Given the description of an element on the screen output the (x, y) to click on. 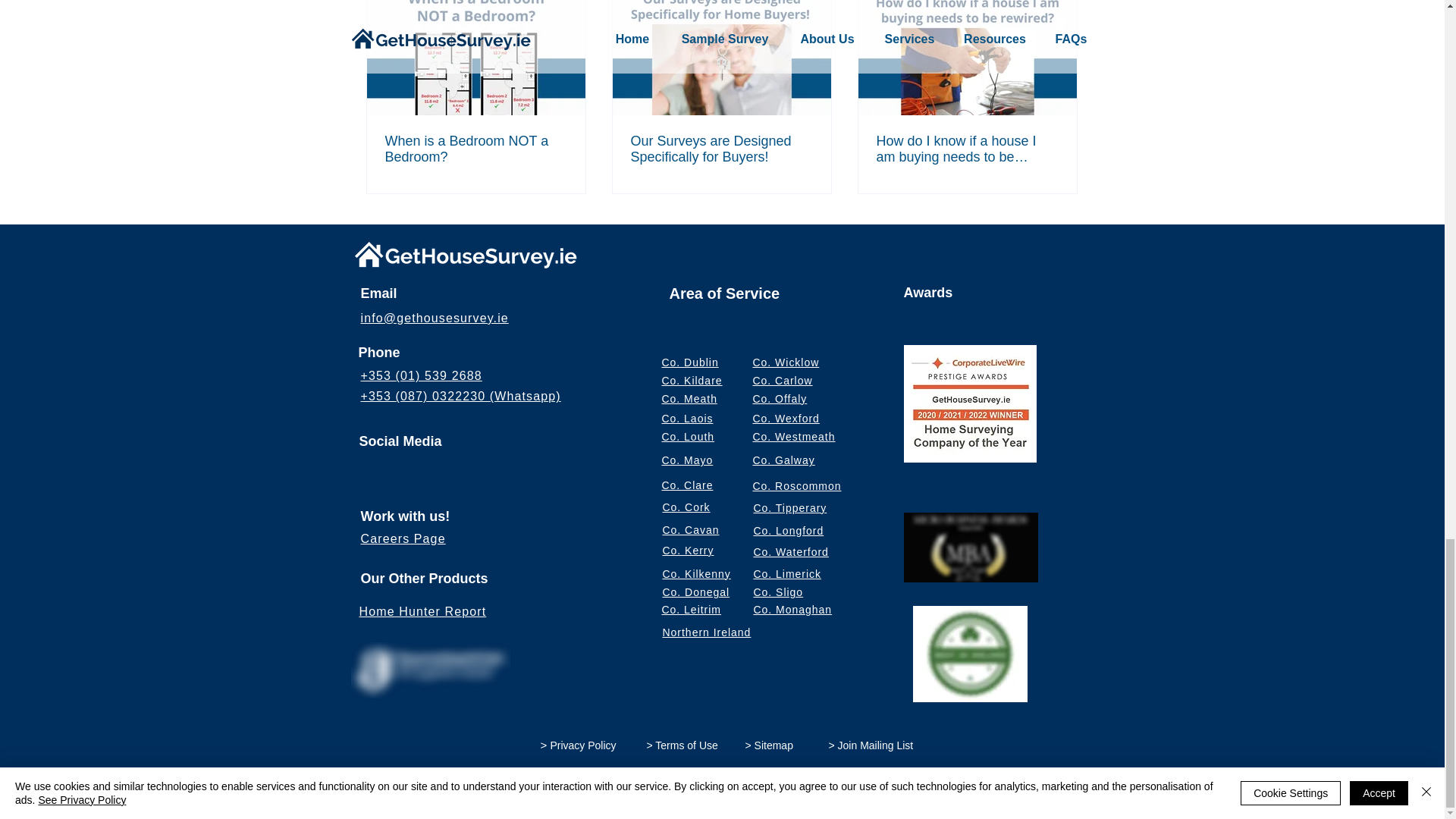
BII Logo.png (969, 653)
